Given the description of an element on the screen output the (x, y) to click on. 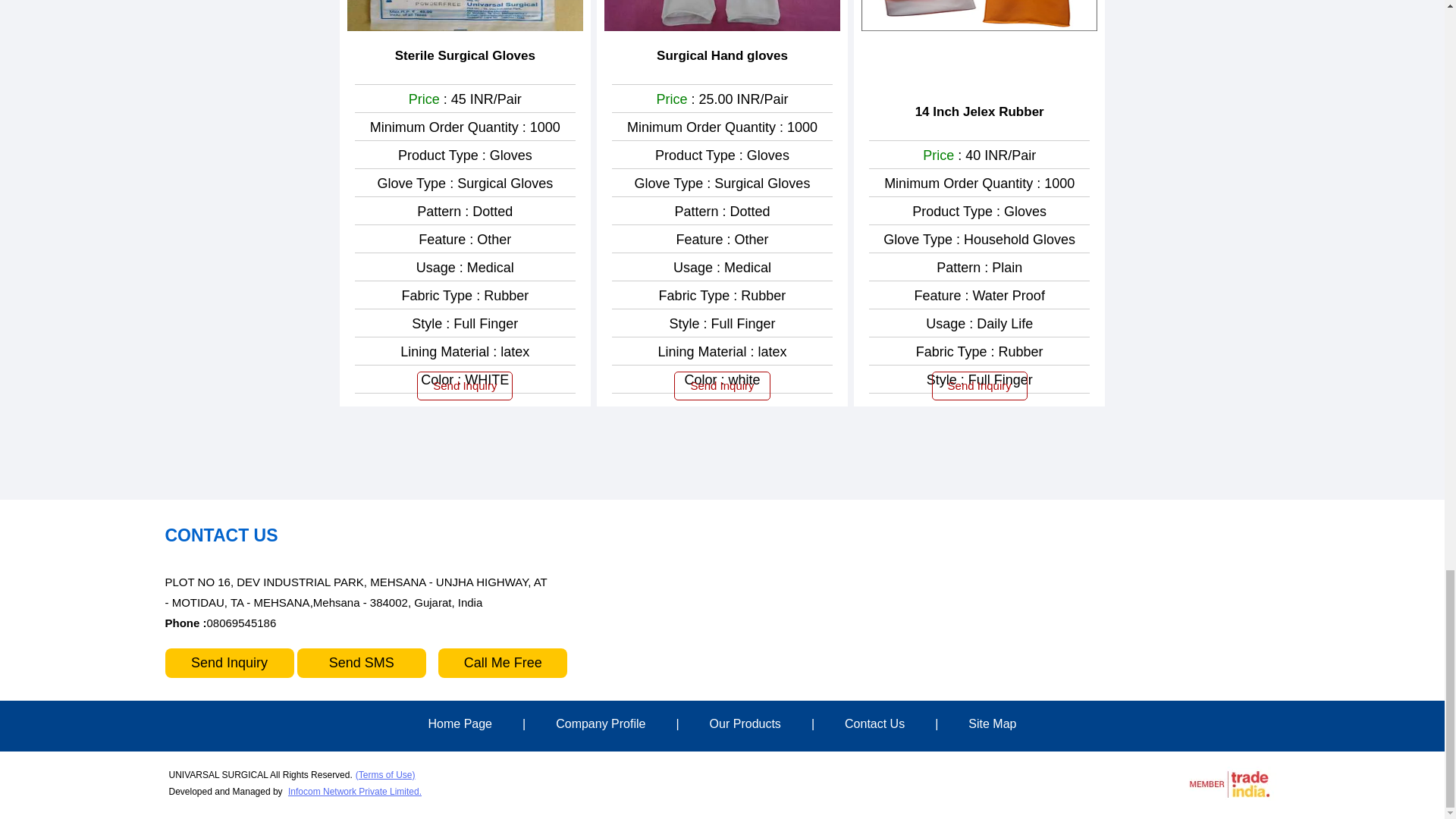
Send Inquiry (722, 385)
Send Inquiry (979, 385)
Send Inquiry (464, 385)
Sterile Surgical Gloves (464, 55)
Surgical Hand gloves (721, 55)
14 Inch Jelex Rubber (979, 112)
